Given the description of an element on the screen output the (x, y) to click on. 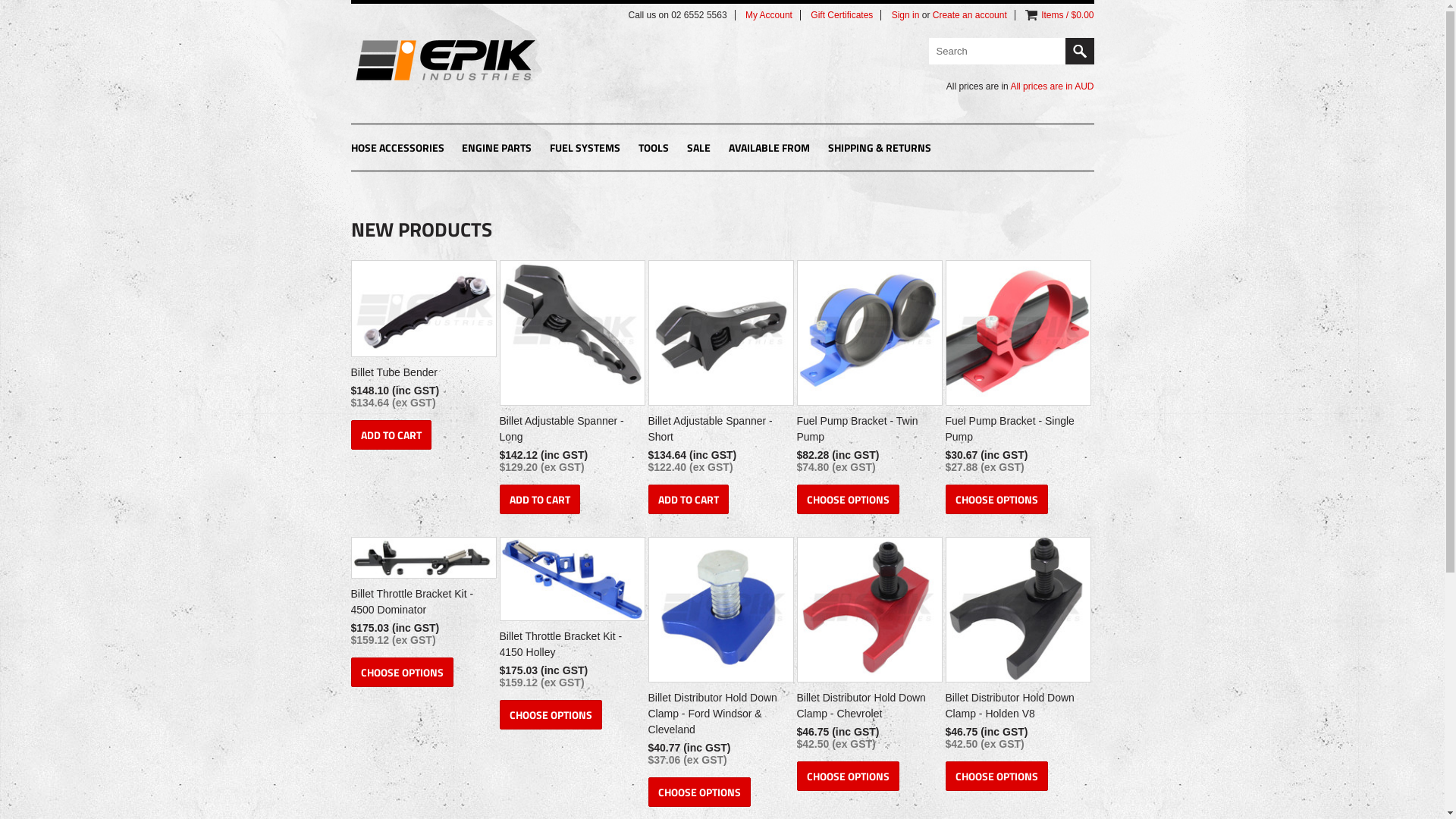
Billet Throttle Bracket Kit - 4500 Dominator Element type: text (421, 603)
ADD TO CART Element type: text (687, 499)
All prices are in AUD Element type: text (1051, 86)
FUEL SYSTEMS Element type: text (584, 148)
CHOOSE OPTIONS Element type: text (698, 791)
Sign in Element type: text (905, 14)
My Account Element type: text (768, 14)
Fuel Pump Bracket - Single Pump Element type: text (1015, 430)
Billet Distributor Hold Down Clamp - Holden V8 Element type: text (1015, 707)
Billet Tube Bender Element type: text (421, 374)
SALE Element type: text (698, 148)
TOOLS Element type: text (653, 148)
View Cart Element type: hover (1031, 14)
CHOOSE OPTIONS Element type: text (847, 499)
ENGINE PARTS Element type: text (496, 148)
SHIPPING & RETURNS Element type: text (879, 148)
Create an account Element type: text (969, 14)
Gift Certificates Element type: text (841, 14)
CHOOSE OPTIONS Element type: text (549, 714)
CHOOSE OPTIONS Element type: text (995, 499)
Billet Adjustable Spanner - Short Element type: text (718, 430)
CHOOSE OPTIONS Element type: text (401, 672)
CHOOSE OPTIONS Element type: text (995, 775)
ADD TO CART Element type: text (538, 499)
Search Element type: hover (1078, 50)
Billet Adjustable Spanner - Long Element type: text (569, 430)
ADD TO CART Element type: text (390, 434)
Fuel Pump Bracket - Twin Pump Element type: text (867, 430)
AVAILABLE FROM Element type: text (768, 148)
CHOOSE OPTIONS Element type: text (847, 775)
Billet Throttle Bracket Kit - 4150 Holley Element type: text (569, 646)
Items / $0.00 Element type: text (1067, 14)
HOSE ACCESSORIES Element type: text (396, 148)
Billet Distributor Hold Down Clamp - Chevrolet Element type: text (867, 707)
